Given the description of an element on the screen output the (x, y) to click on. 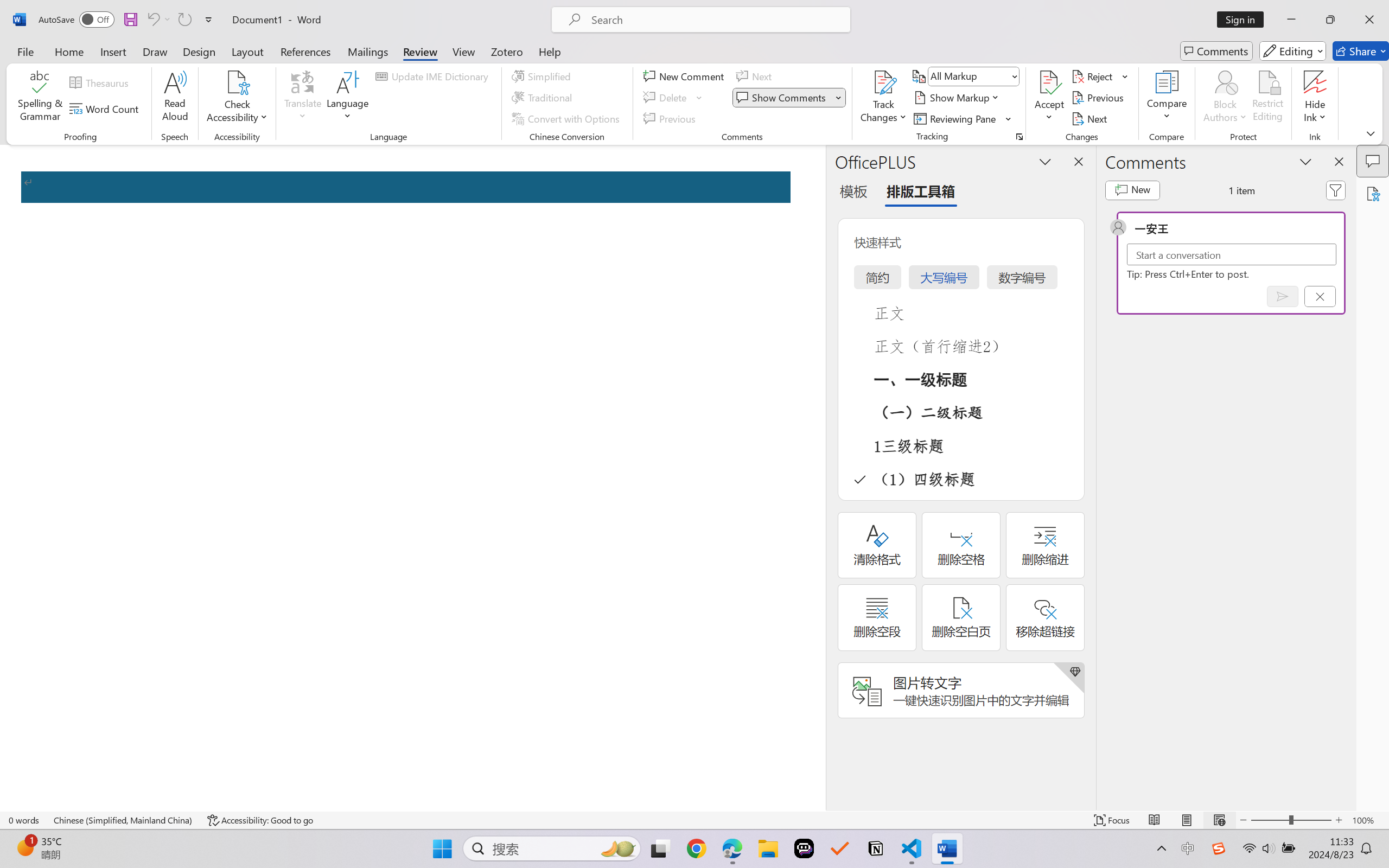
Track Changes (883, 81)
Update IME Dictionary... (433, 75)
Show Comments (788, 97)
Filter (1335, 190)
Accept and Move to Next (1049, 81)
Undo Apply Quick Style Set (158, 19)
Block Authors (1224, 81)
Editing (1292, 50)
Delete (673, 97)
